Given the description of an element on the screen output the (x, y) to click on. 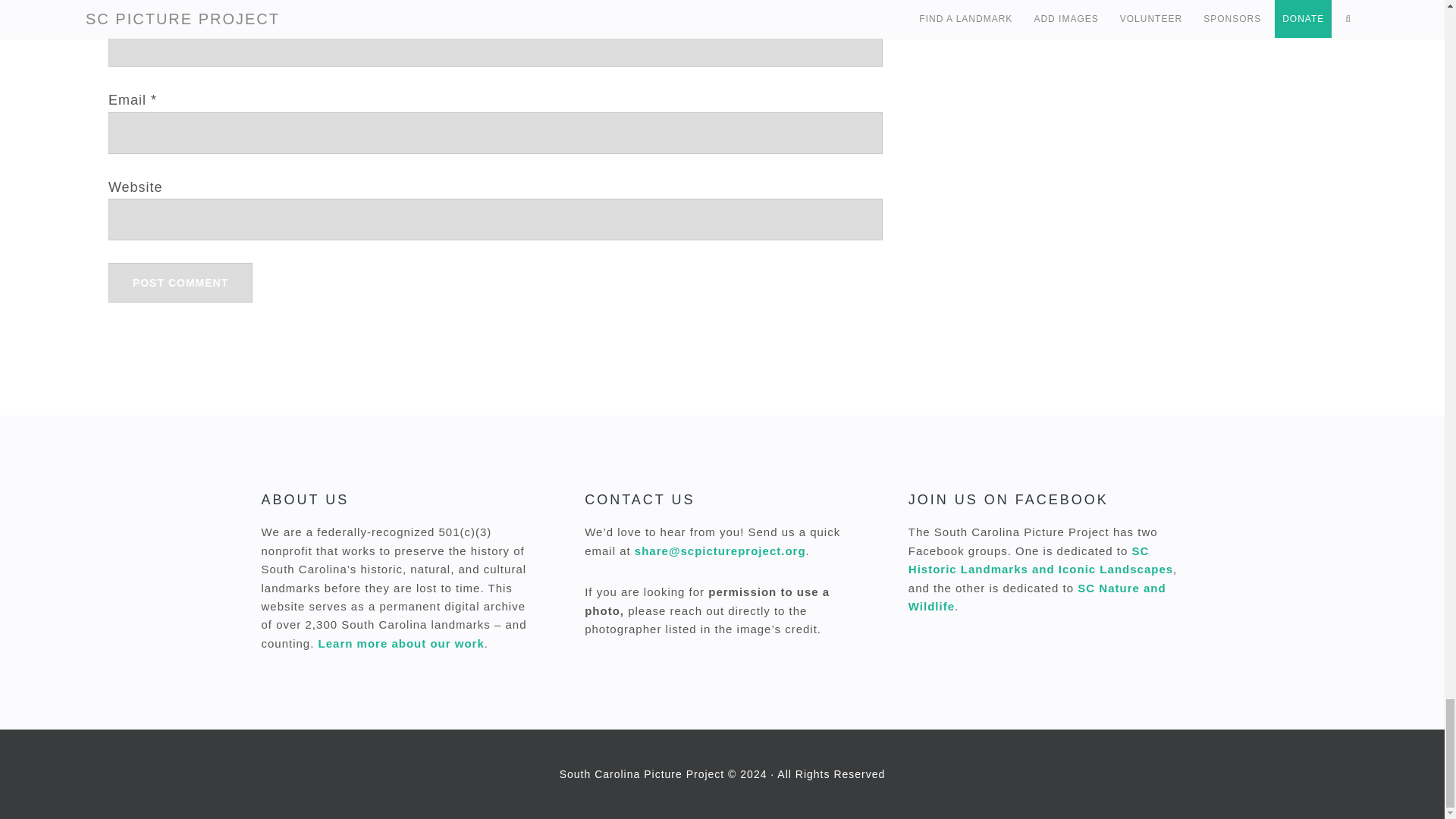
Post Comment (179, 282)
